Given the description of an element on the screen output the (x, y) to click on. 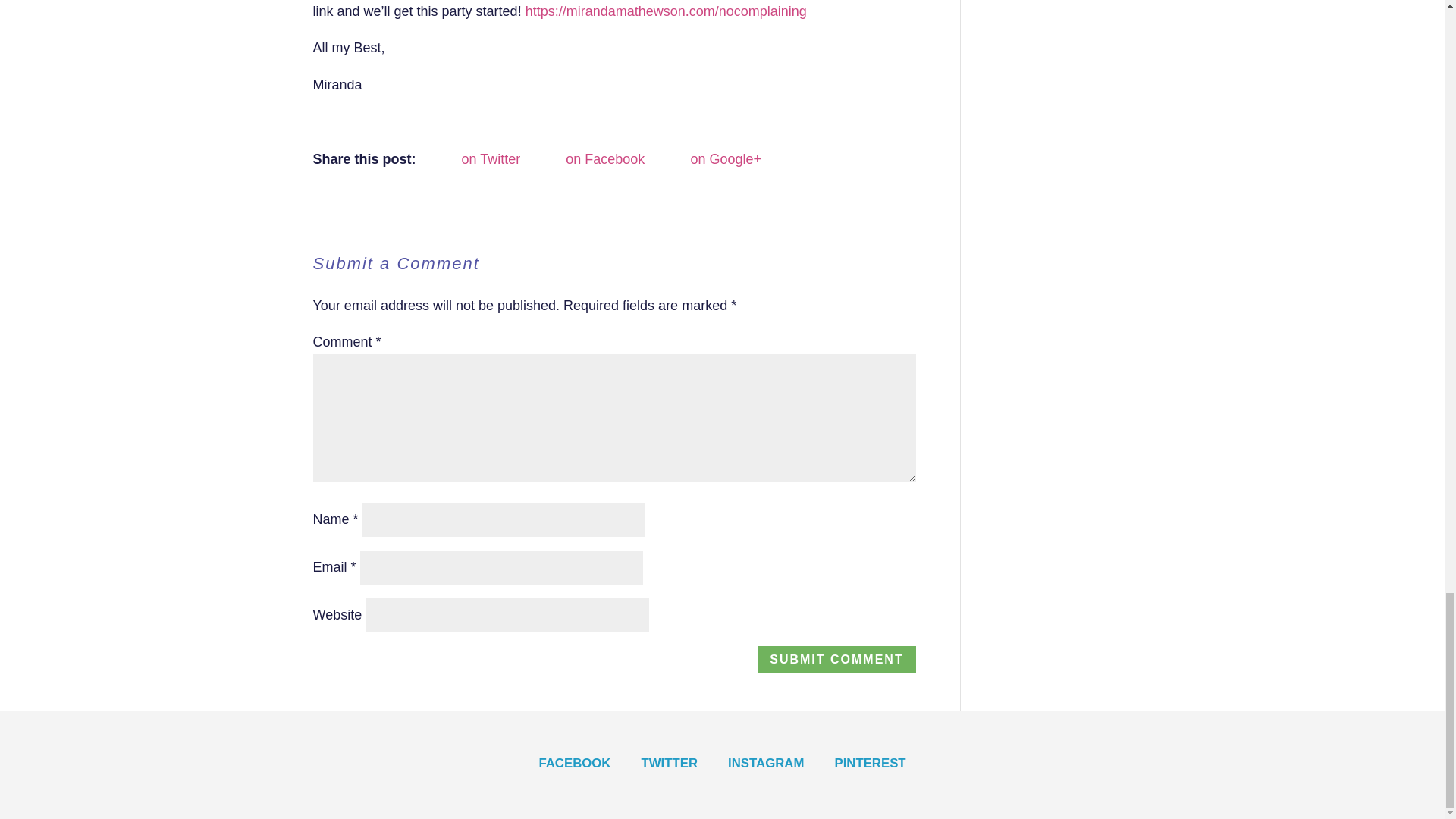
on Facebook (588, 159)
Submit Comment (836, 660)
Submit Comment (836, 660)
on Twitter (475, 159)
